Given the description of an element on the screen output the (x, y) to click on. 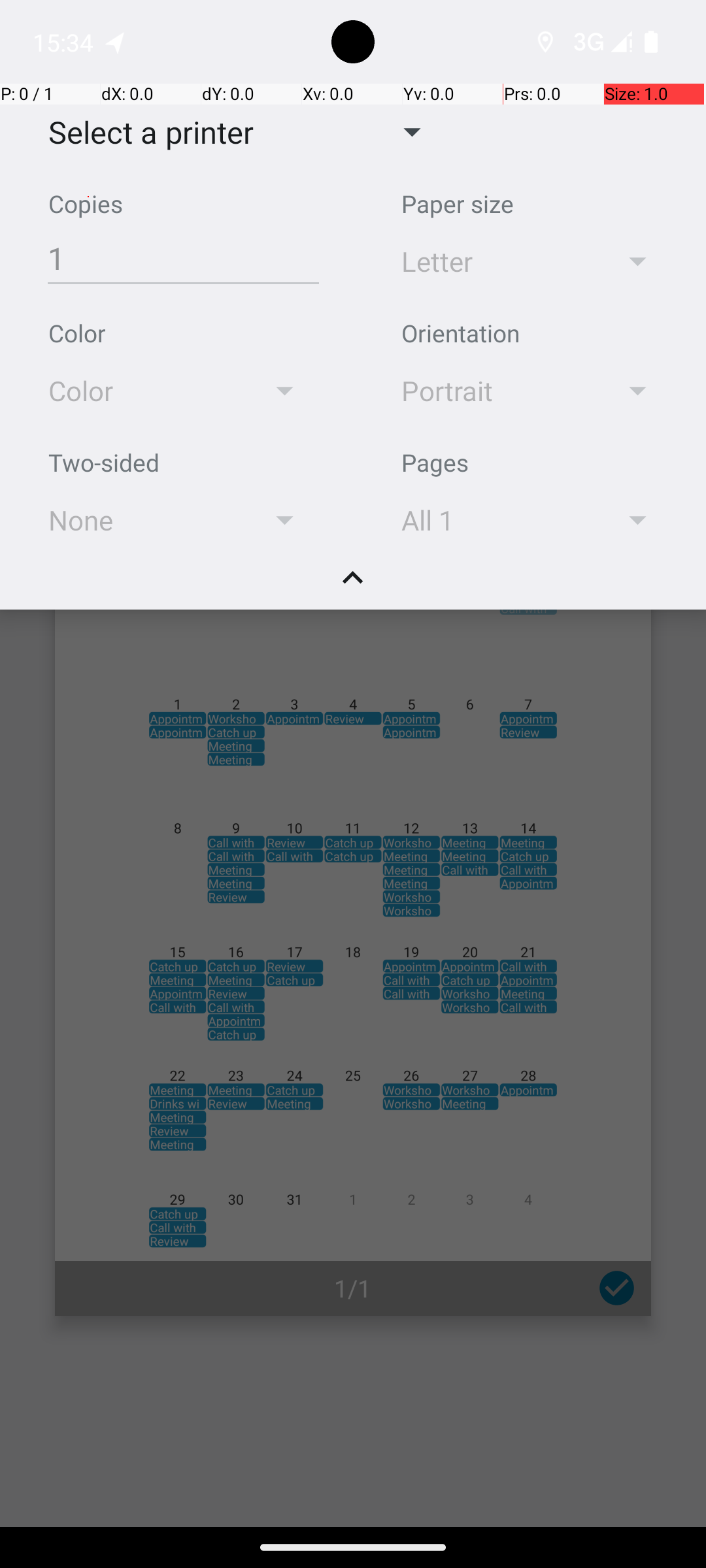
Copies Element type: android.widget.TextView (85, 203)
Paper size Element type: android.widget.TextView (457, 203)
Orientation Element type: android.widget.TextView (460, 332)
Two-sided Element type: android.widget.TextView (103, 461)
Pages Element type: android.widget.TextView (434, 461)
Collapse handle Element type: android.widget.FrameLayout (353, 585)
Select a printer Element type: android.widget.TextView (140, 131)
Letter Element type: android.widget.CheckedTextView (491, 261)
Portrait Element type: android.widget.CheckedTextView (491, 390)
All 1 Element type: android.widget.CheckedTextView (491, 519)
Page 1 of 1 Element type: android.widget.CompoundButton (352, 902)
1/1 Element type: android.widget.TextView (352, 1287)
